Given the description of an element on the screen output the (x, y) to click on. 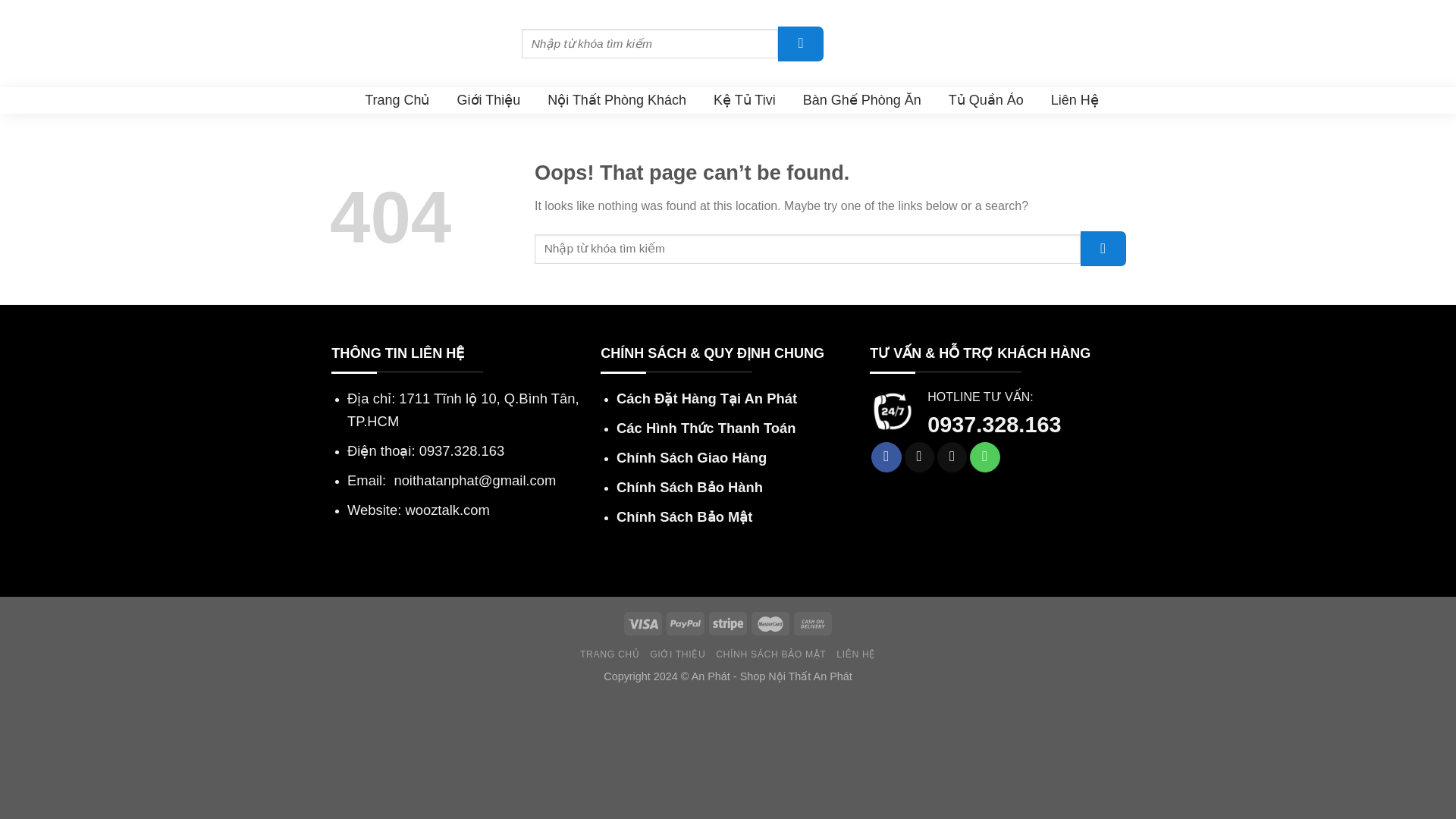
Follow on Facebook (885, 457)
Follow on TikTok (919, 457)
Send us an email (952, 457)
Call us (984, 457)
